Given the description of an element on the screen output the (x, y) to click on. 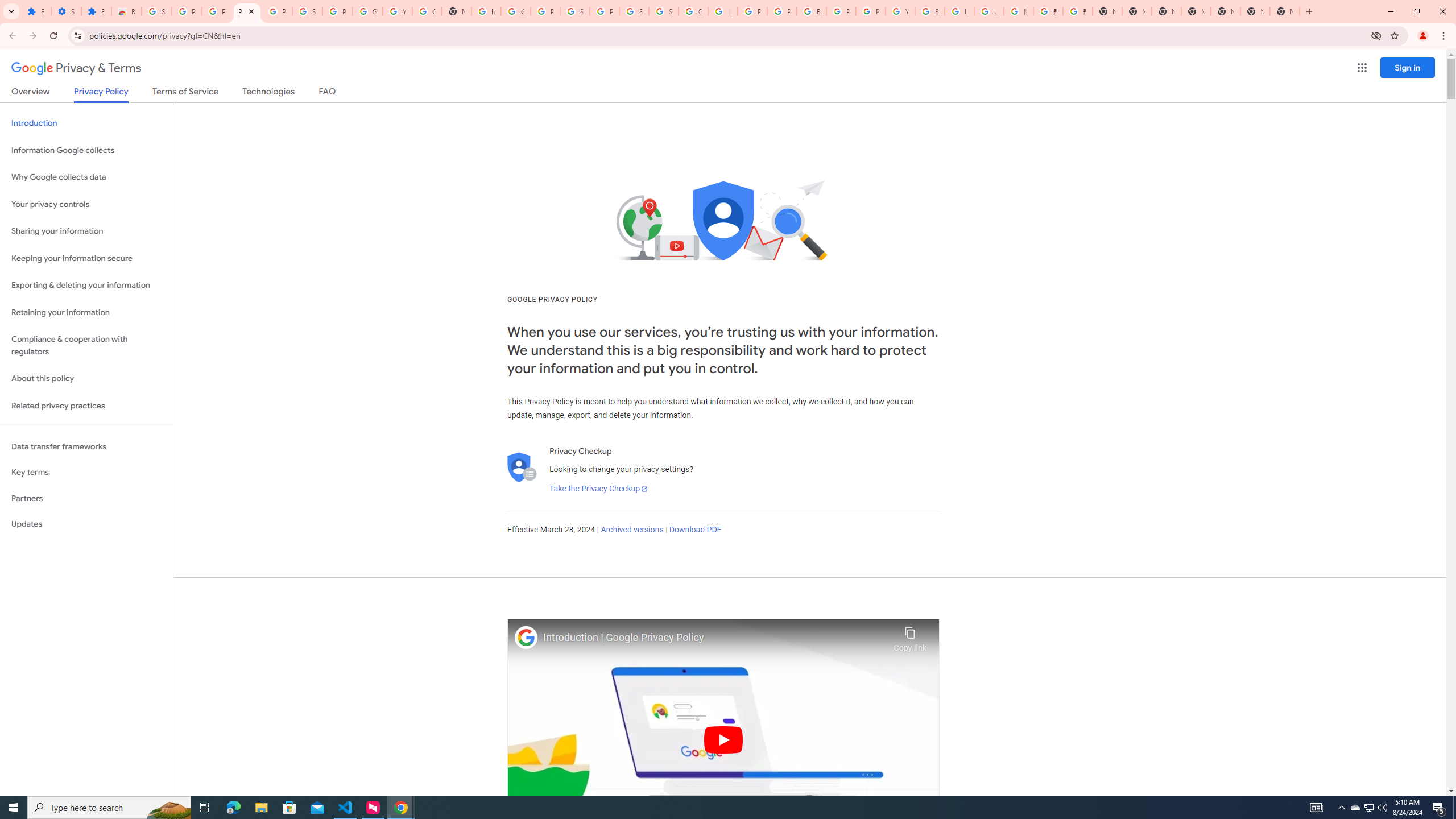
Reviews: Helix Fruit Jump Arcade Game (126, 11)
New Tab (1106, 11)
Why Google collects data (86, 176)
https://scholar.google.com/ (485, 11)
Related privacy practices (86, 405)
Your privacy controls (86, 204)
